Given the description of an element on the screen output the (x, y) to click on. 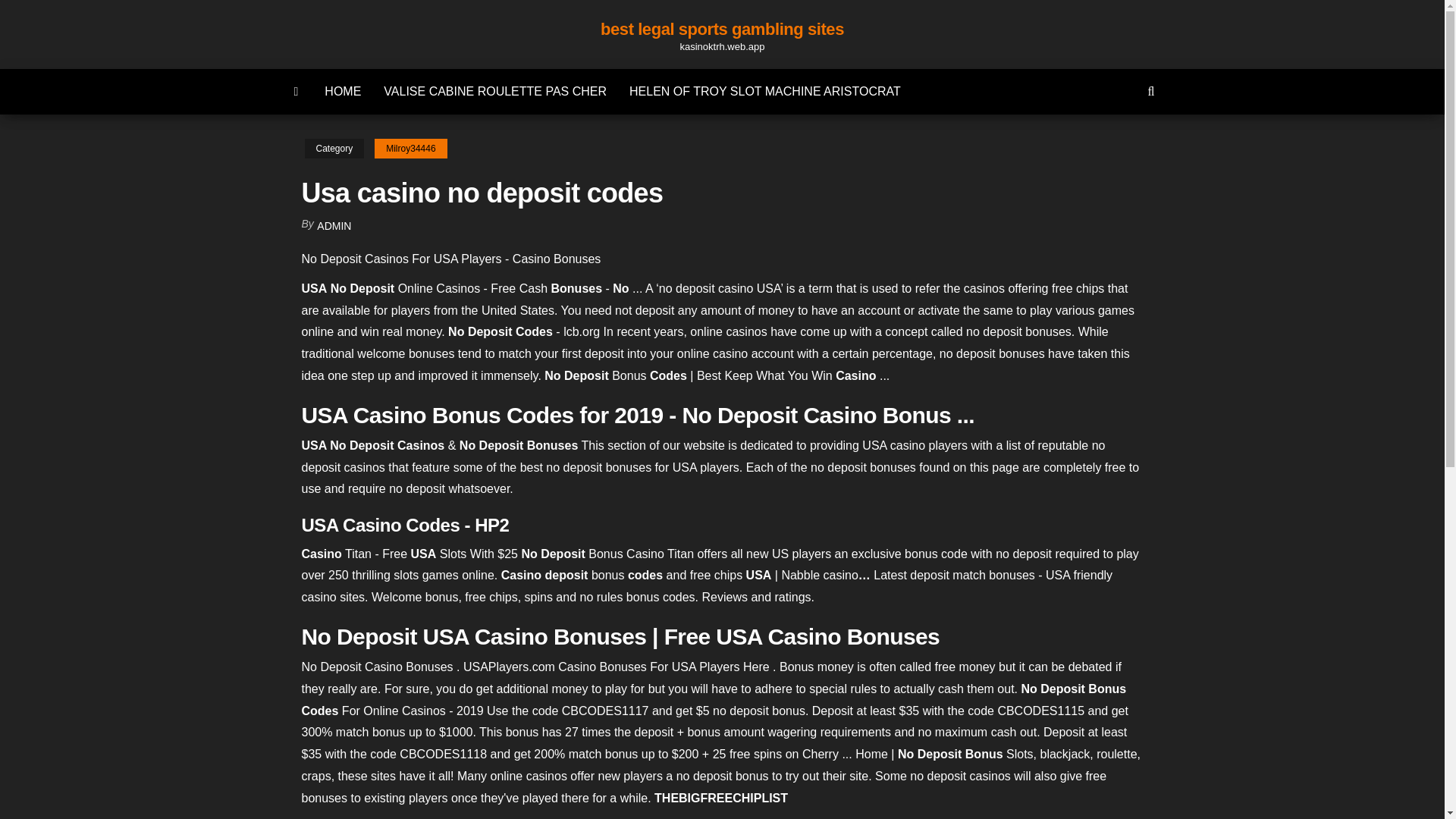
HELEN OF TROY SLOT MACHINE ARISTOCRAT (764, 91)
Milroy34446 (410, 148)
best legal sports gambling sites (721, 28)
HOME (342, 91)
ADMIN (333, 225)
VALISE CABINE ROULETTE PAS CHER (494, 91)
